Given the description of an element on the screen output the (x, y) to click on. 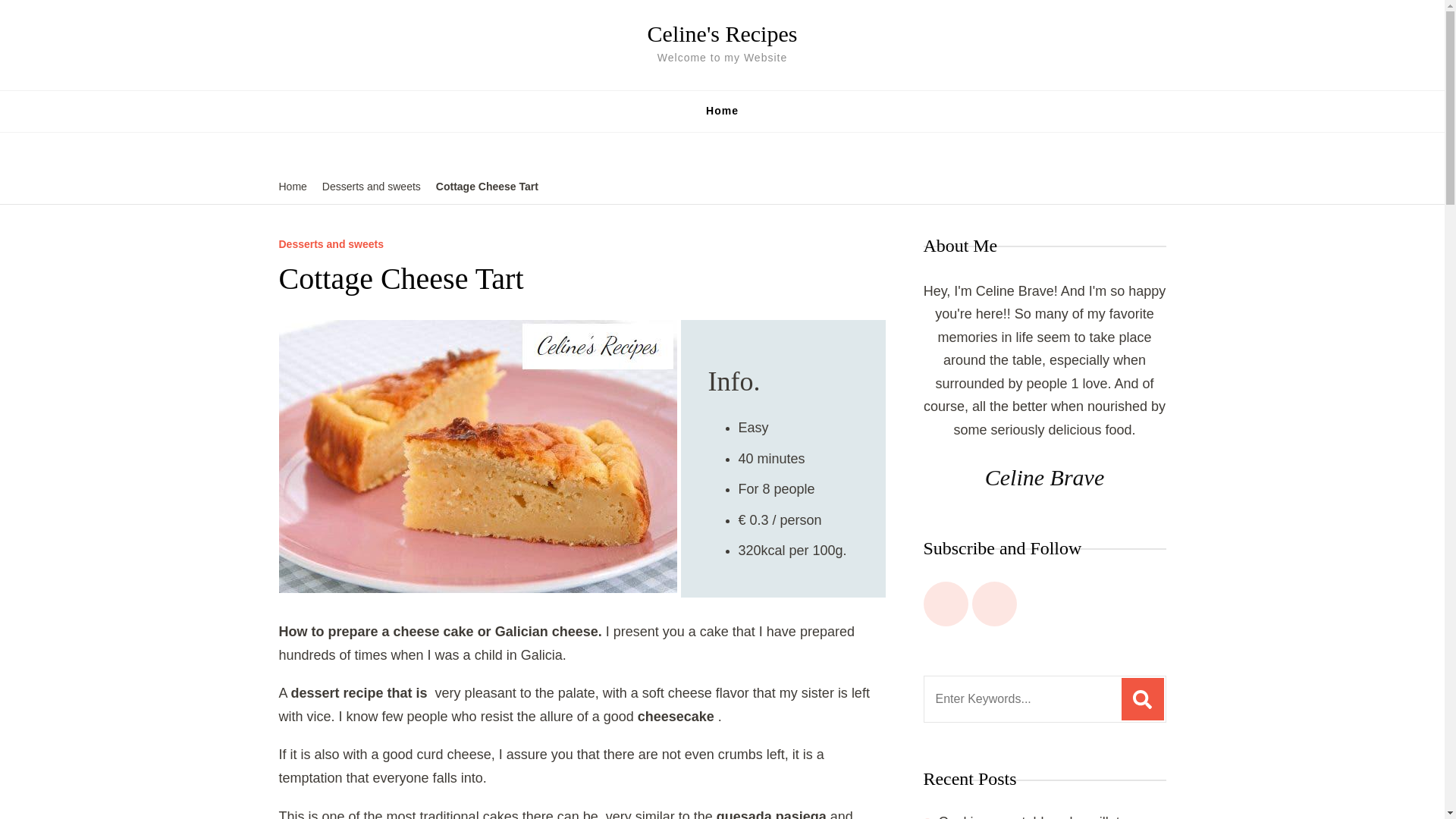
Search (1141, 698)
Home (293, 187)
Search (1141, 698)
Desserts and sweets (370, 187)
Search (926, 485)
Desserts and sweets (331, 244)
Cottage Cheese Tart (486, 187)
Celine's Recipes (722, 33)
Search (1141, 698)
Home (722, 110)
